Given the description of an element on the screen output the (x, y) to click on. 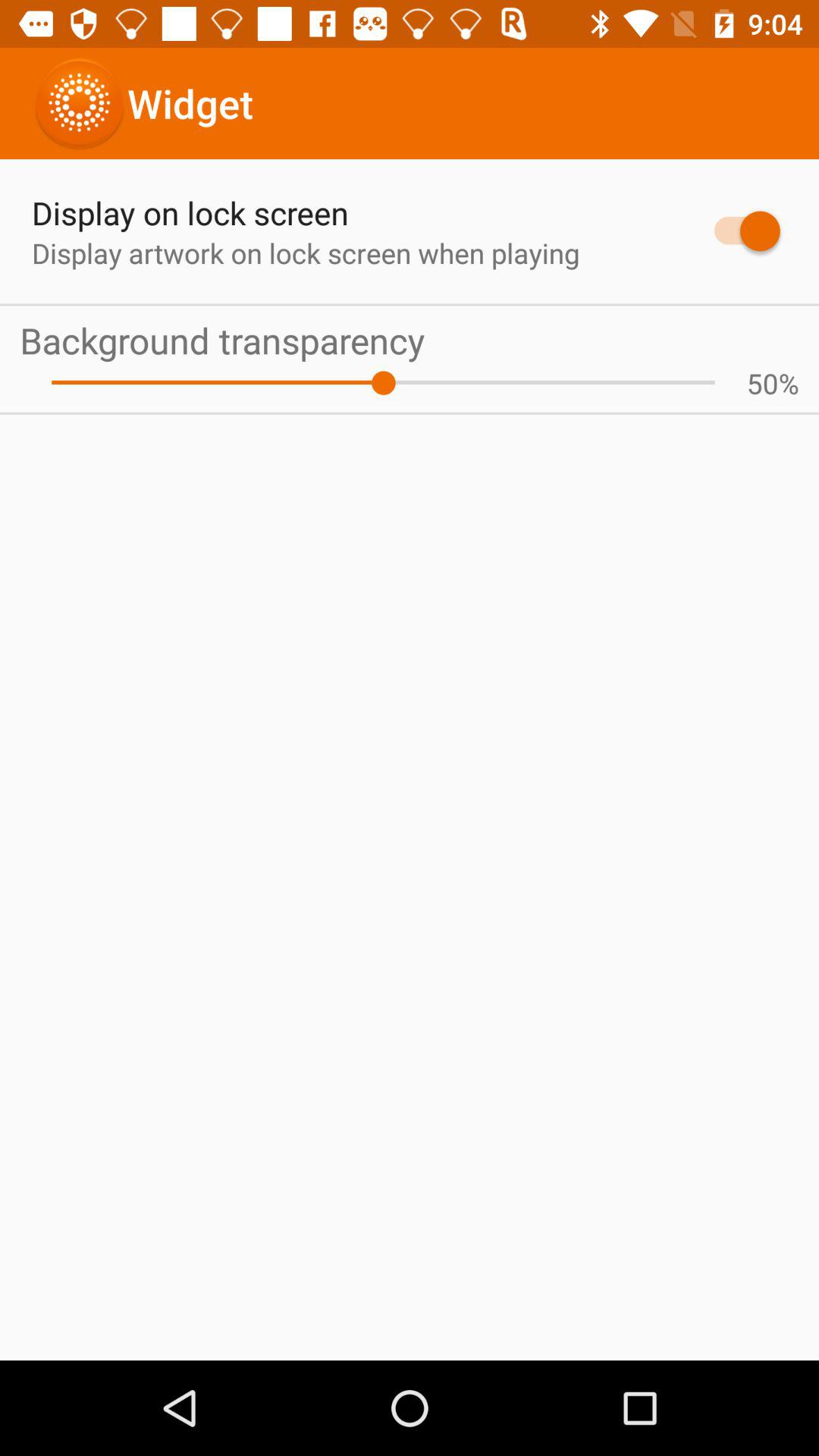
turn on icon to the right of the 50 item (788, 383)
